Given the description of an element on the screen output the (x, y) to click on. 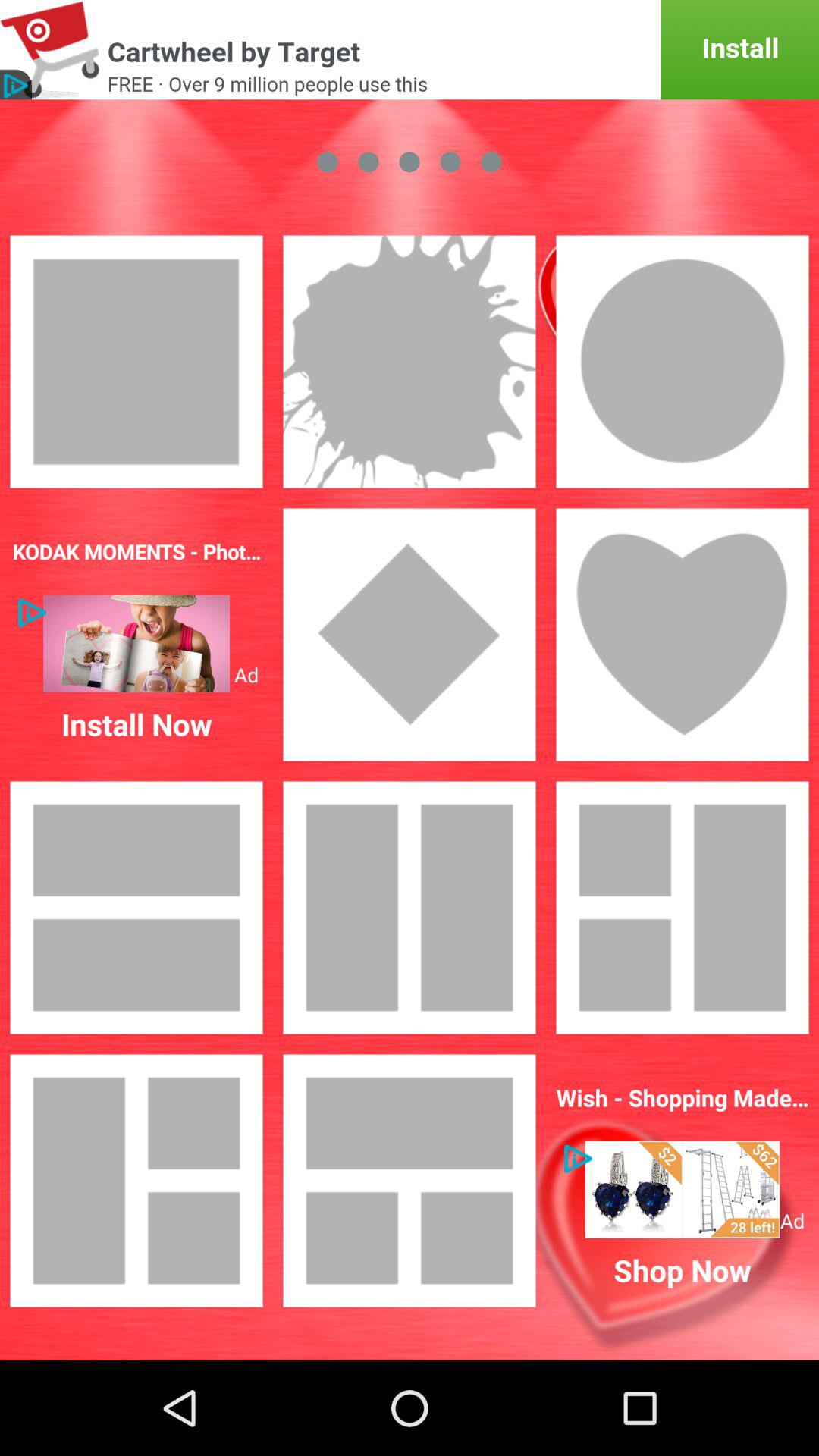
symbol of love (682, 634)
